Given the description of an element on the screen output the (x, y) to click on. 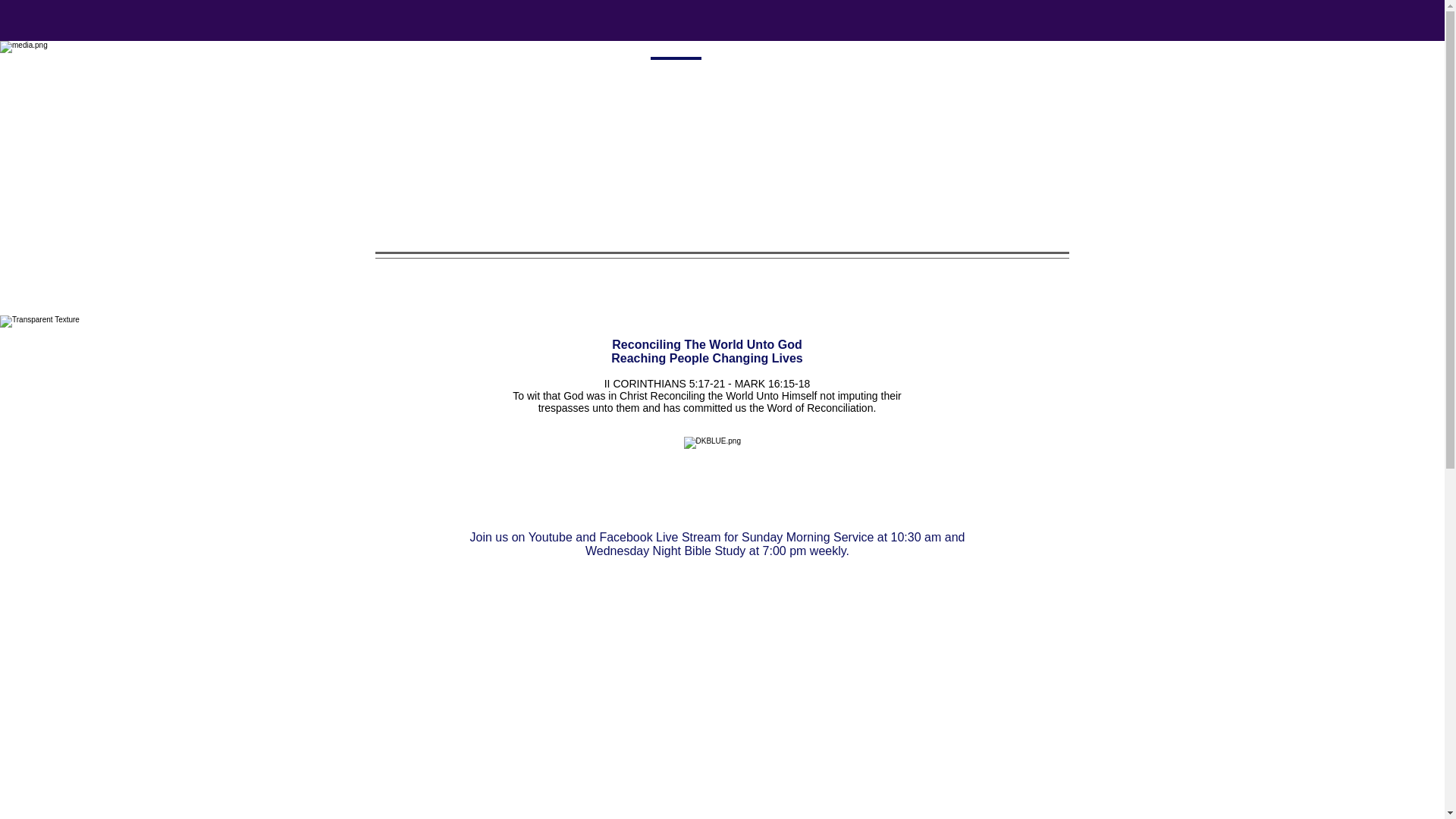
Contact (945, 65)
About (617, 65)
Home (482, 65)
Giving (813, 65)
Ministries (744, 65)
Welcome (549, 65)
Partner (877, 65)
Media (675, 65)
